Given the description of an element on the screen output the (x, y) to click on. 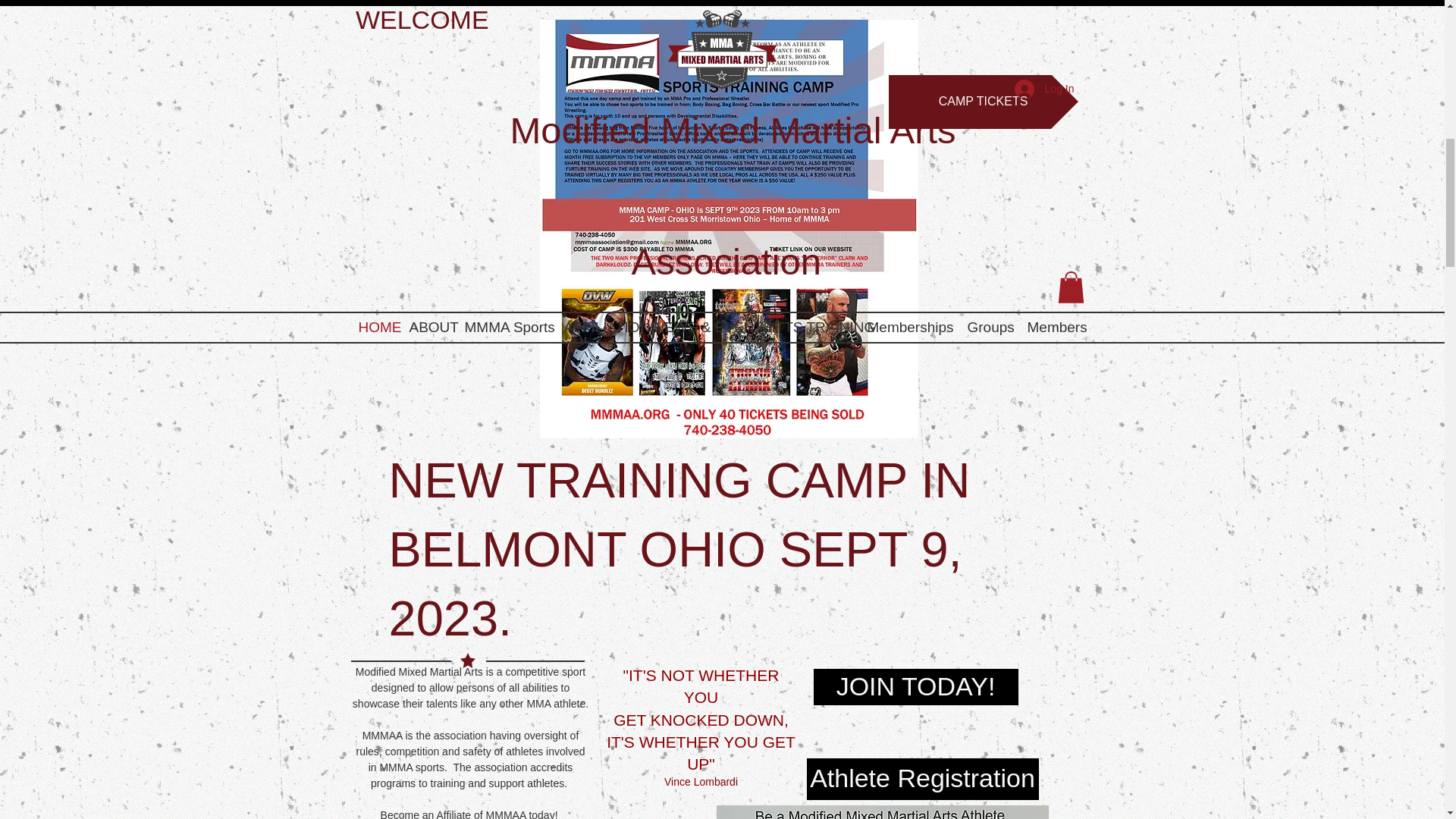
CAMP TICKETS (983, 101)
Athlete Registration (922, 779)
JOIN TODAY! (914, 687)
